Given the description of an element on the screen output the (x, y) to click on. 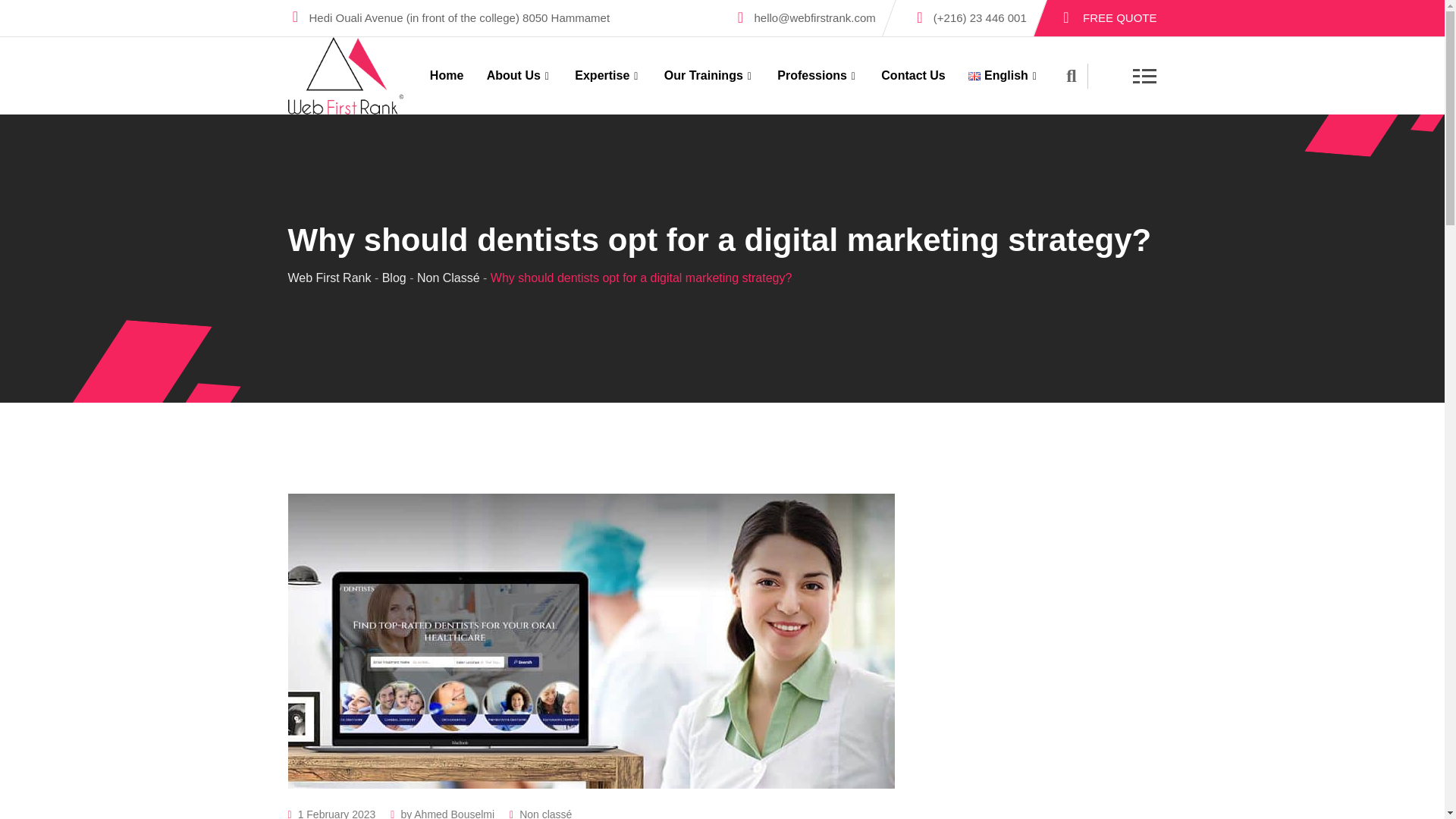
FREE QUOTE (1120, 19)
Go to Web First Rank. (329, 277)
Expertise (607, 75)
Our Trainings (708, 75)
Posts by Ahmed Bouselmi (454, 813)
English (1003, 75)
Professions (817, 75)
Go to Blog. (393, 277)
Contact Us (912, 75)
About Us (519, 75)
